Given the description of an element on the screen output the (x, y) to click on. 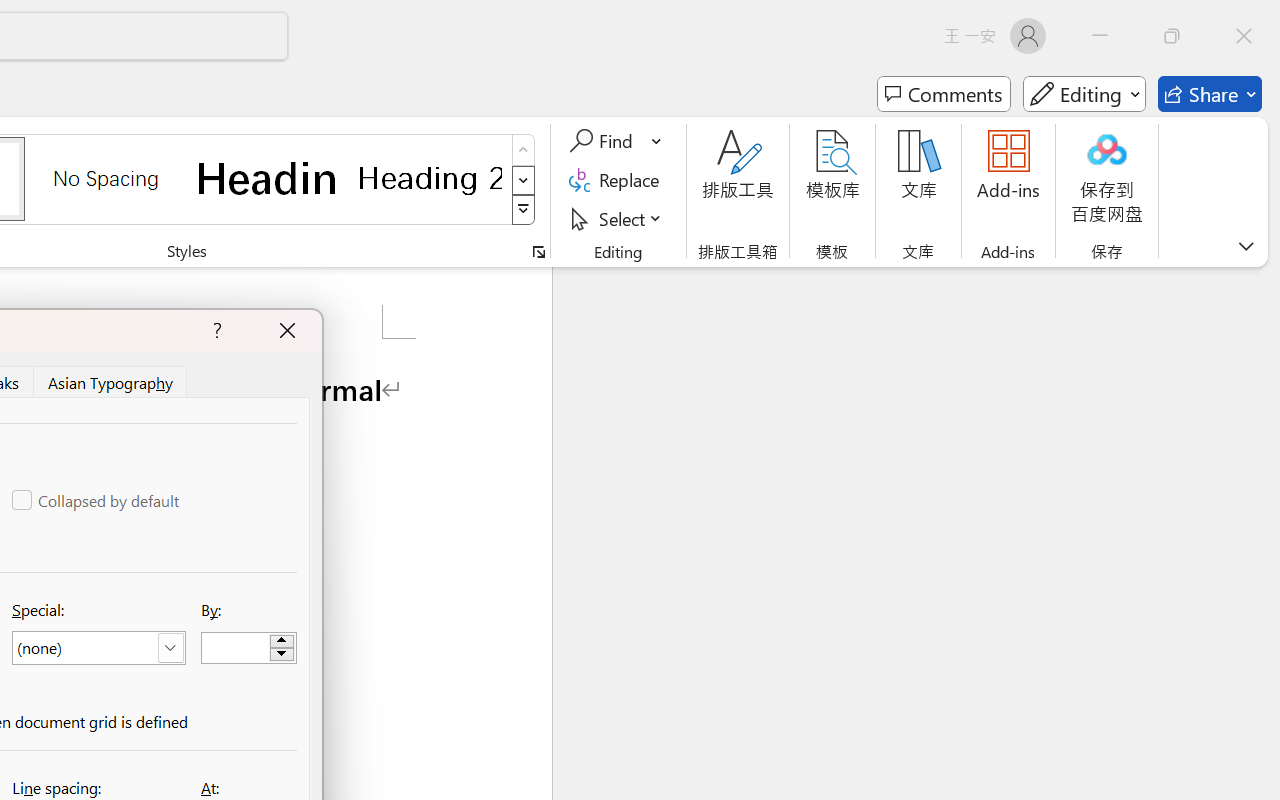
Heading 2 (429, 178)
Styles (523, 209)
Row Down (523, 180)
Styles... (538, 252)
Asian Typography (111, 381)
By: (248, 648)
Special: (98, 647)
RichEdit Control (235, 647)
